Given the description of an element on the screen output the (x, y) to click on. 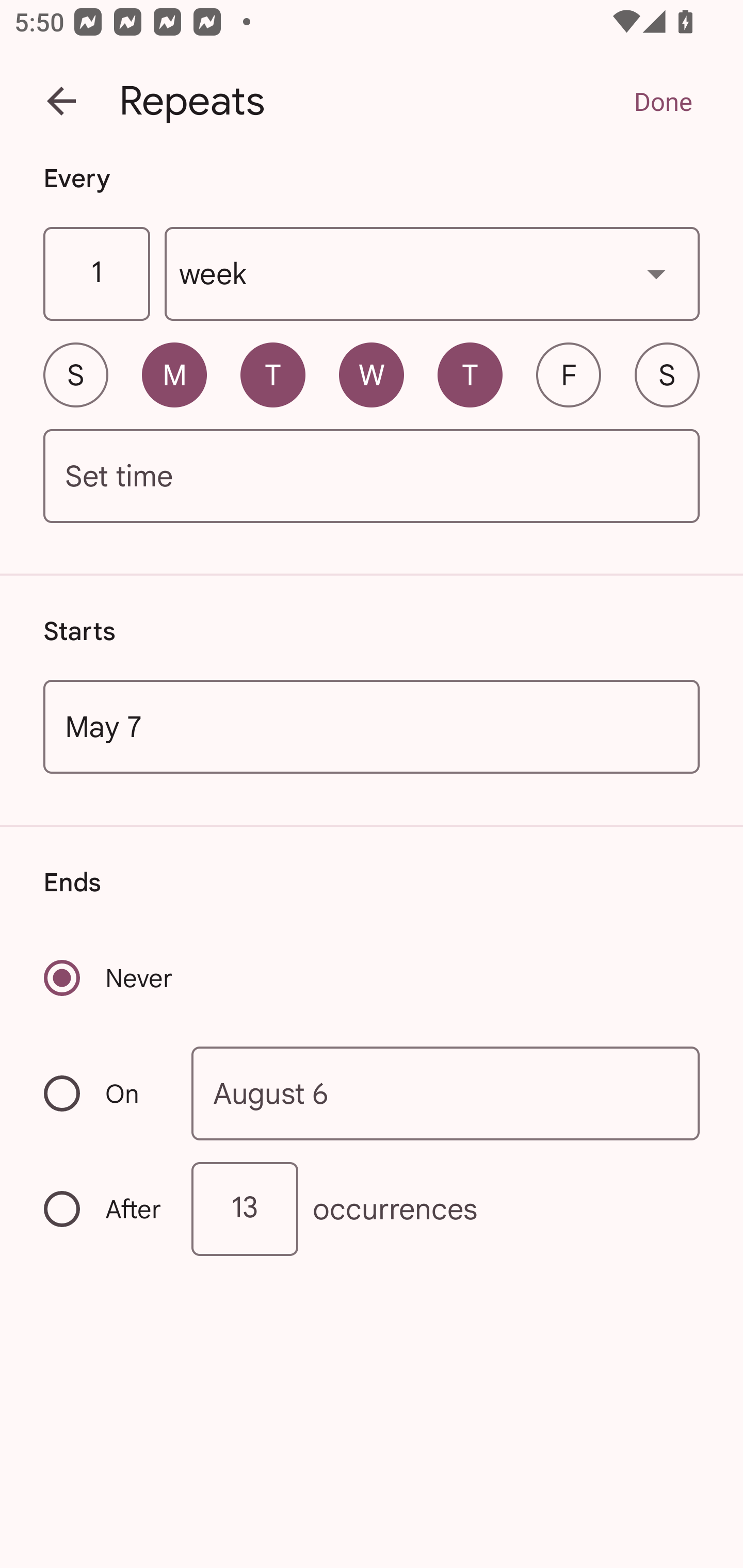
Back (61, 101)
Done (663, 101)
1 (96, 274)
week (431, 274)
Show dropdown menu (655, 273)
S Sunday (75, 374)
M Monday, selected (173, 374)
T Tuesday, selected (272, 374)
W Wednesday, selected (371, 374)
T Thursday, selected (469, 374)
F Friday (568, 374)
S Saturday (666, 374)
Set time (371, 476)
May 7 (371, 726)
Never Recurrence never ends (109, 978)
August 6 (445, 1092)
On Recurrence ends on a specific date (104, 1093)
13 (244, 1208)
